Given the description of an element on the screen output the (x, y) to click on. 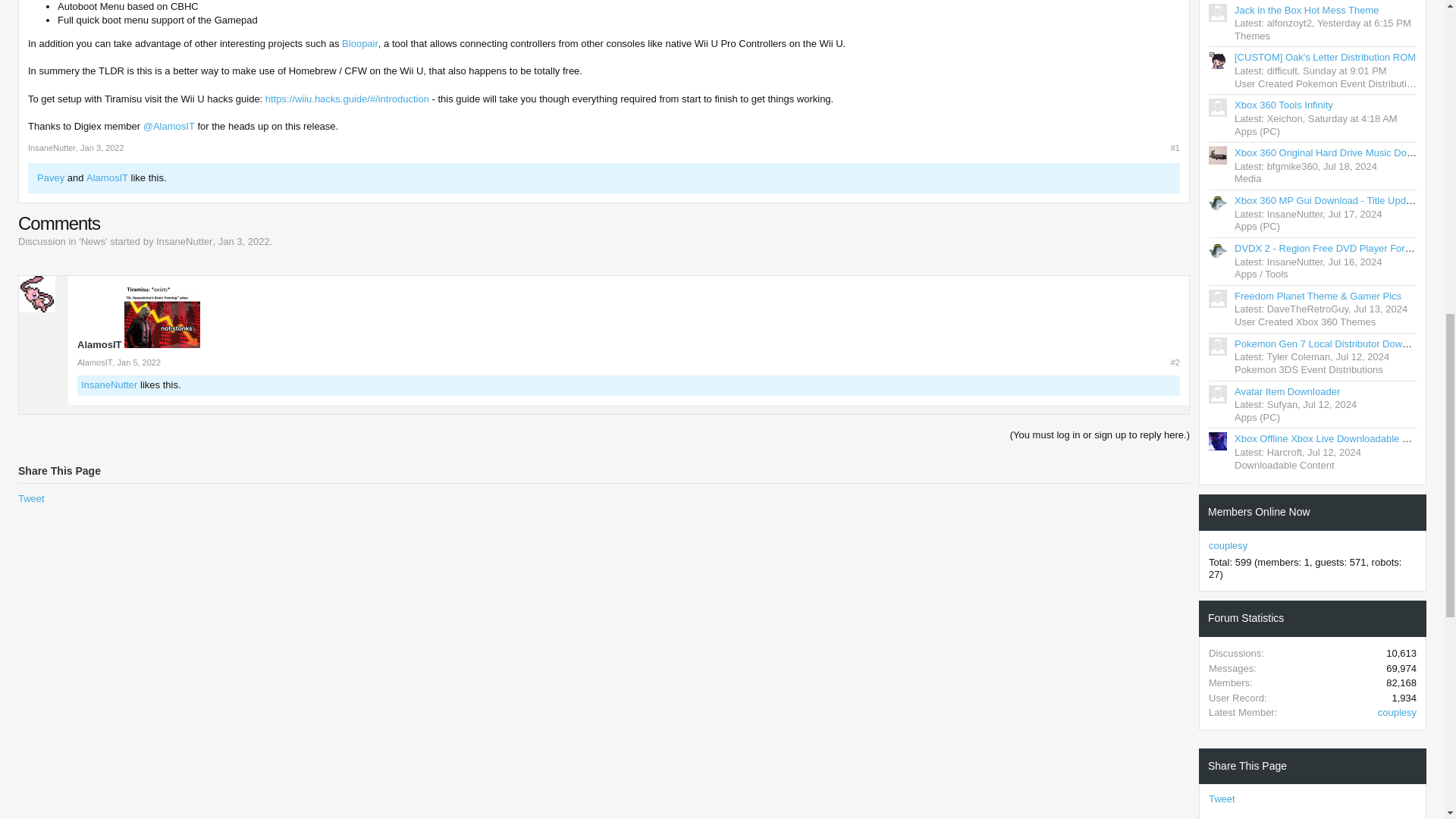
Jan 3, 2022 at 3:25 PM (243, 241)
Jan 3, 2022 (243, 241)
InsaneNutter (51, 147)
Jan 3, 2022 (101, 147)
Permalink (1174, 362)
Permalink (1174, 147)
News (93, 241)
Bloopair (359, 43)
Pavey (50, 176)
Jul 24, 2024 at 6:15 PM (1363, 22)
AlamosIT (106, 176)
Permalink (139, 361)
Permalink (101, 147)
InsaneNutter (183, 241)
